Given the description of an element on the screen output the (x, y) to click on. 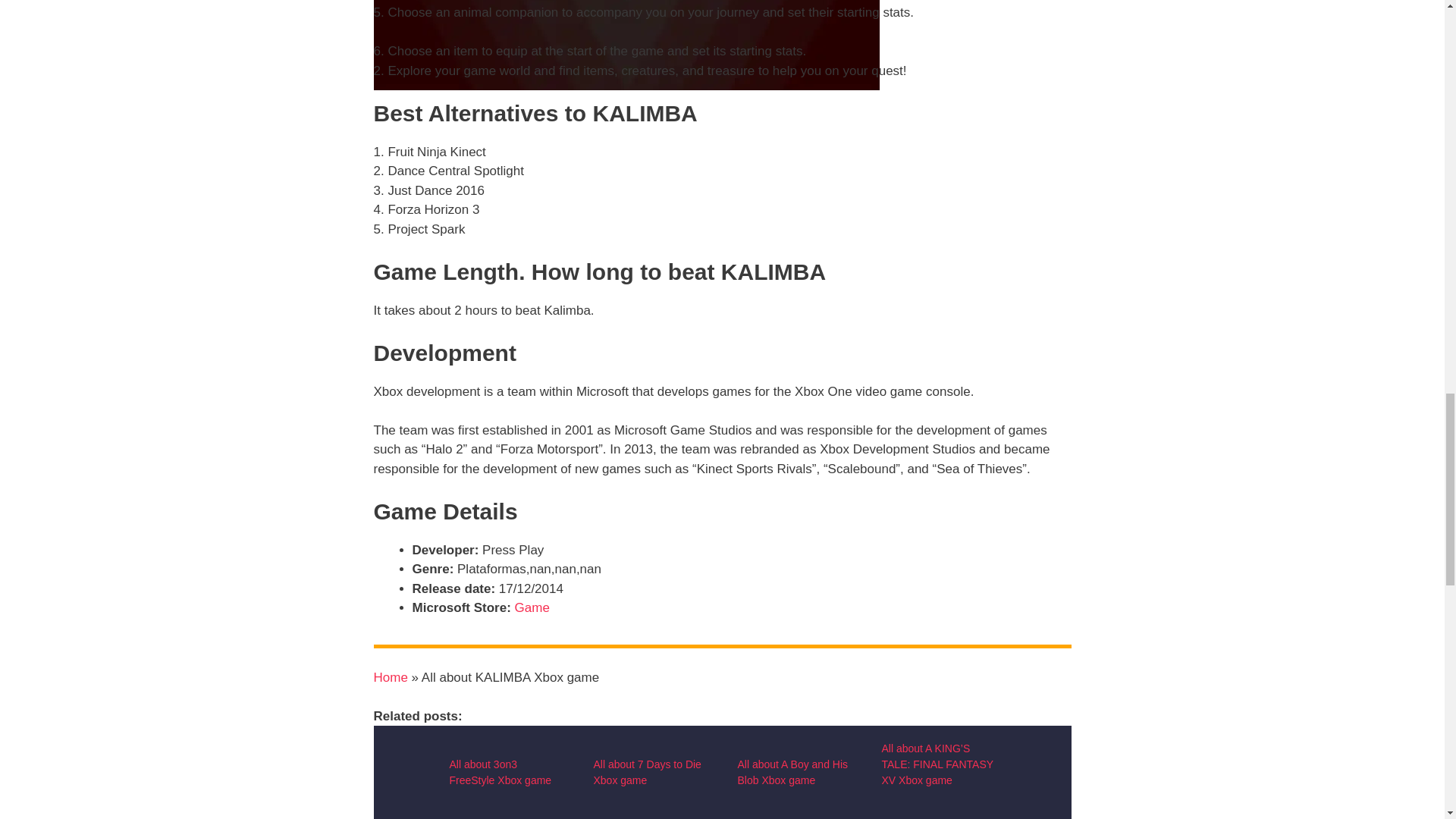
Home (389, 677)
All about 3on3 FreeStyle Xbox game (499, 772)
All about 7 Days to Die Xbox game (646, 772)
All about A Boy and His Blob Xbox game (791, 772)
Game (532, 607)
